Given the description of an element on the screen output the (x, y) to click on. 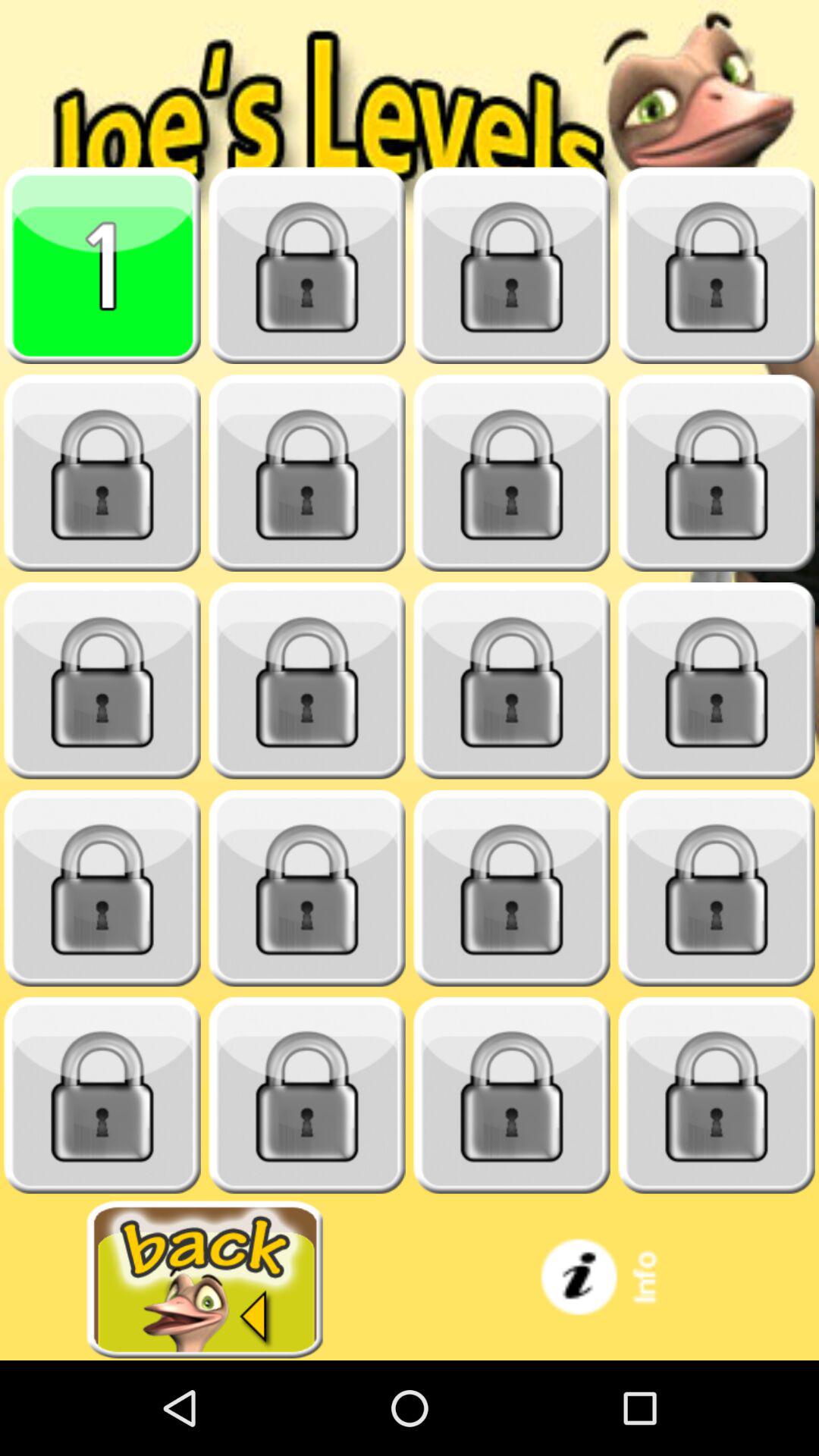
locked item (511, 473)
